Given the description of an element on the screen output the (x, y) to click on. 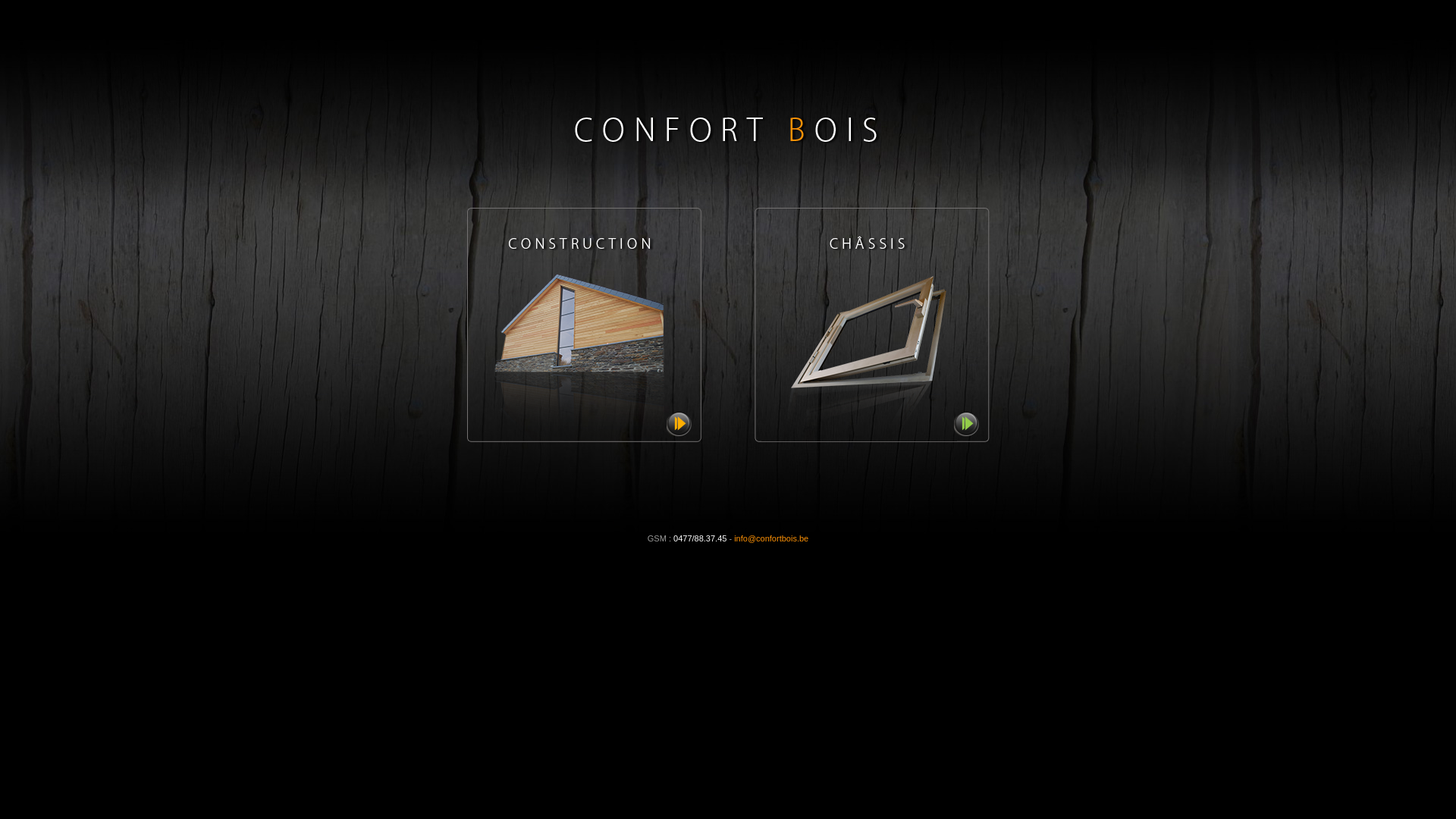
info@confortbois.be Element type: text (771, 537)
